Given the description of an element on the screen output the (x, y) to click on. 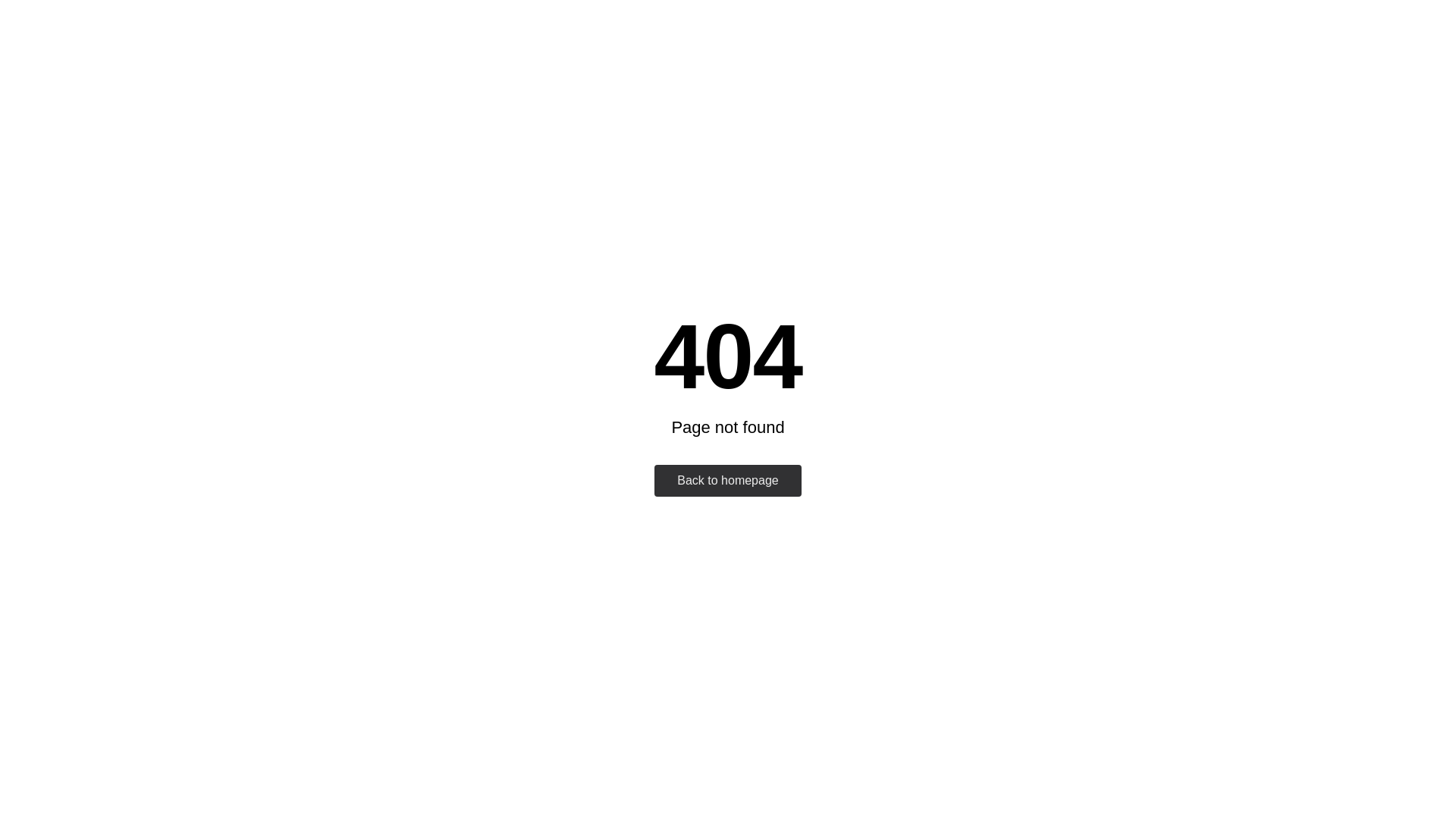
Back to homepage Element type: text (727, 480)
